Given the description of an element on the screen output the (x, y) to click on. 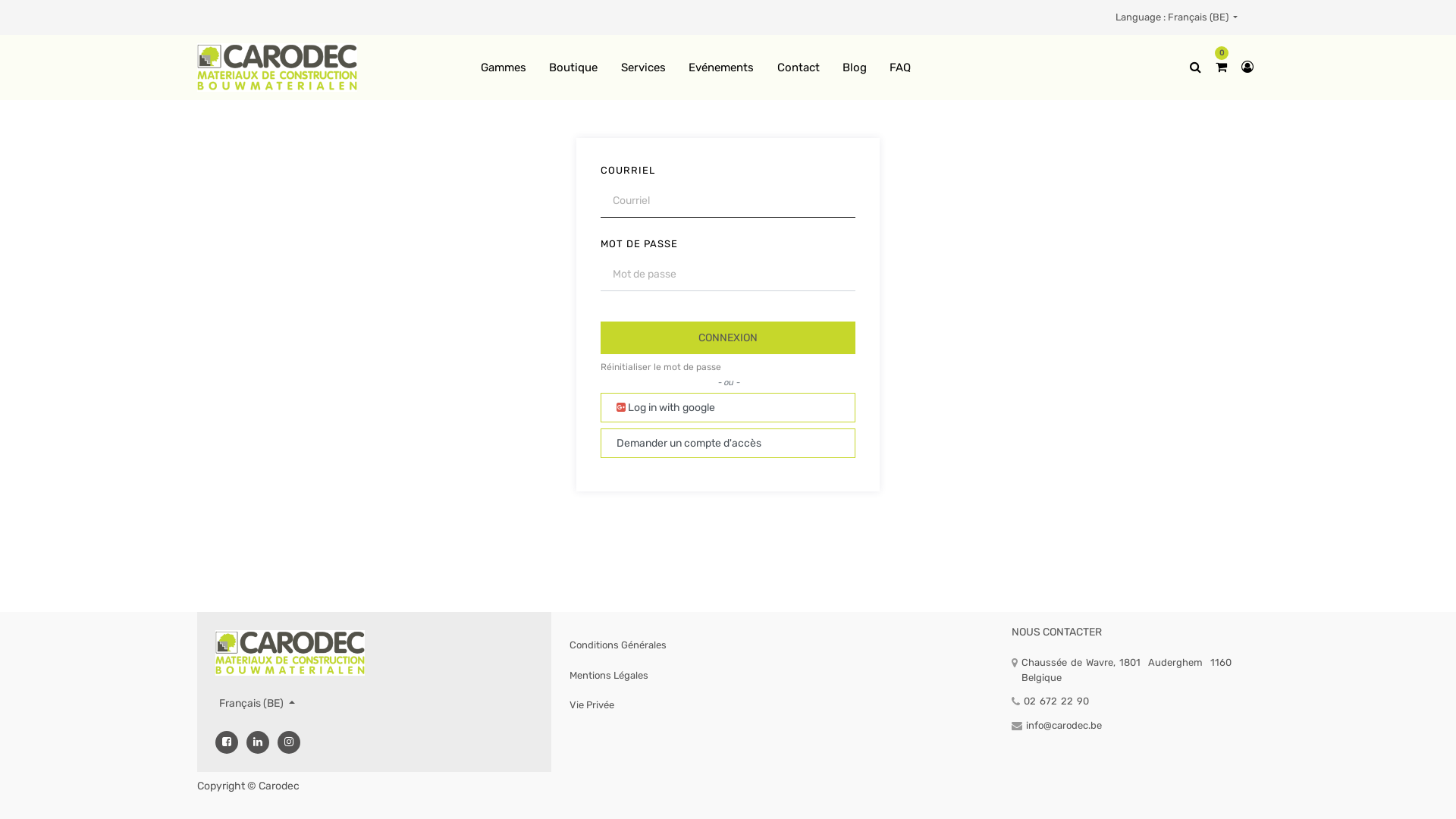
Gammes Element type: text (503, 67)
Carodec Element type: hover (277, 65)
Carodec Element type: hover (289, 652)
Log in with google Element type: text (727, 407)
Blog Element type: text (854, 67)
Services Element type: text (643, 67)
Contact Element type: text (797, 67)
CONNEXION Element type: text (727, 337)
0 Element type: text (1220, 67)
FAQ Element type: text (900, 67)
Boutique Element type: text (572, 67)
